Given the description of an element on the screen output the (x, y) to click on. 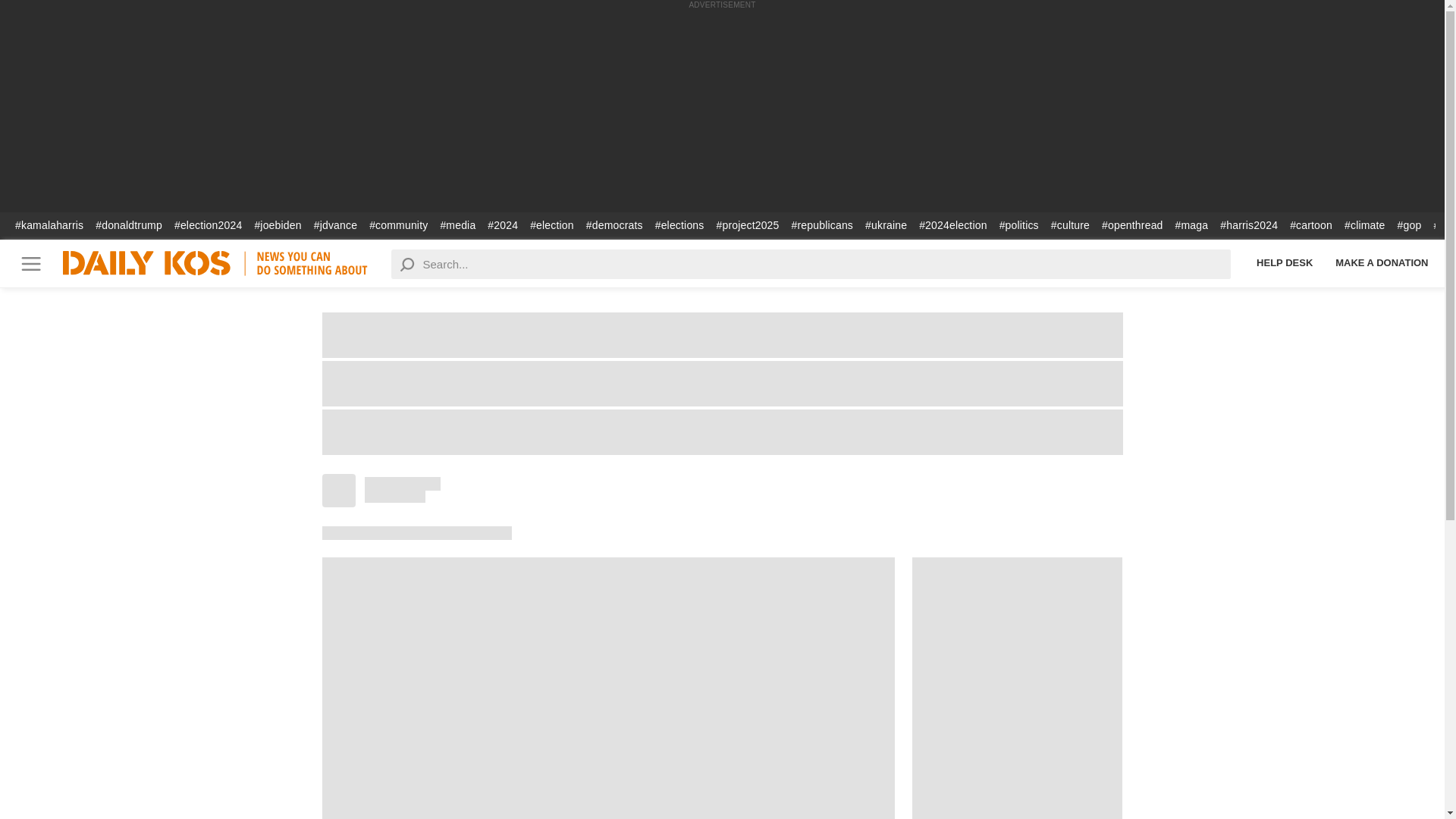
Make a Donation (1381, 262)
MAKE A DONATION (1381, 262)
Help Desk (1283, 262)
